Given the description of an element on the screen output the (x, y) to click on. 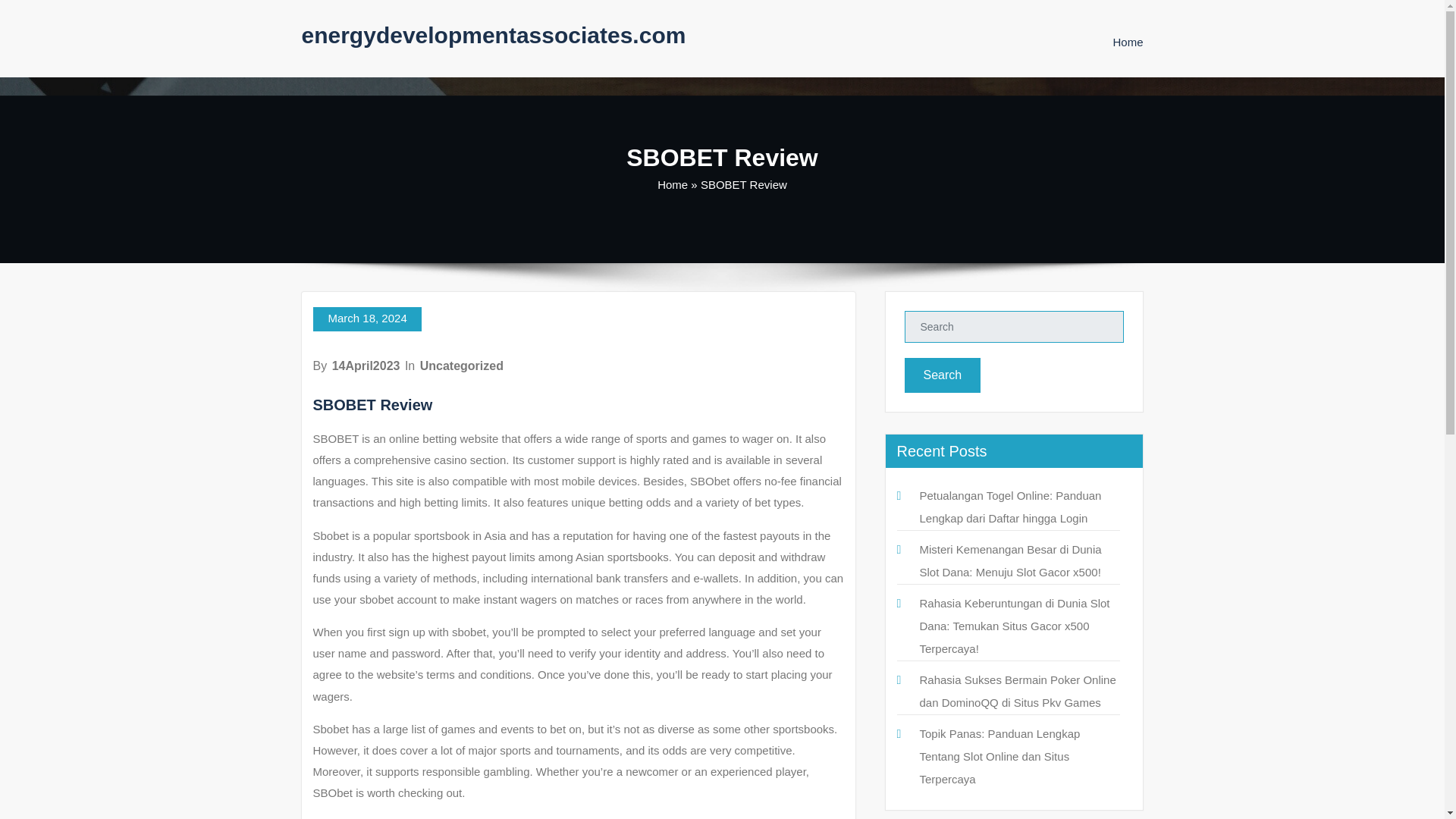
Home (1127, 41)
Search (941, 375)
Uncategorized (462, 365)
Home (672, 184)
energydevelopmentassociates.com (493, 34)
Home (1127, 41)
14April2023 (365, 365)
March 18, 2024 (366, 319)
